Given the description of an element on the screen output the (x, y) to click on. 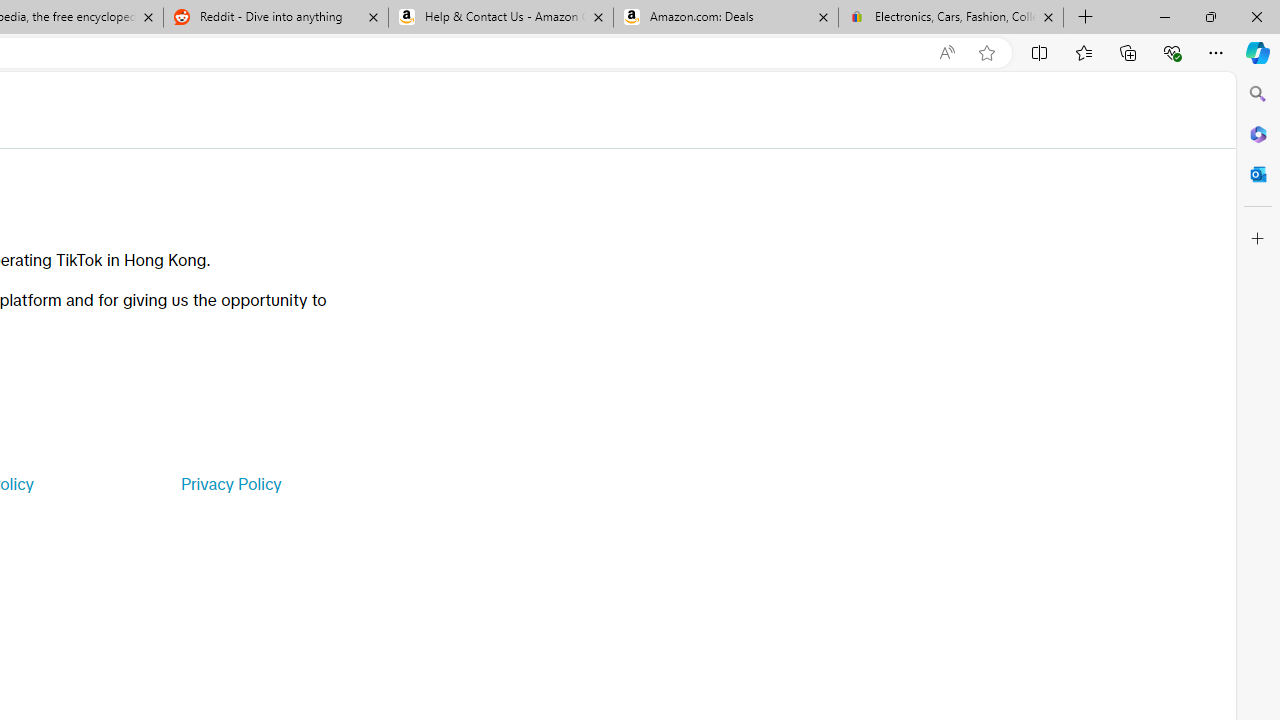
Privacy Policy (230, 484)
